Given the description of an element on the screen output the (x, y) to click on. 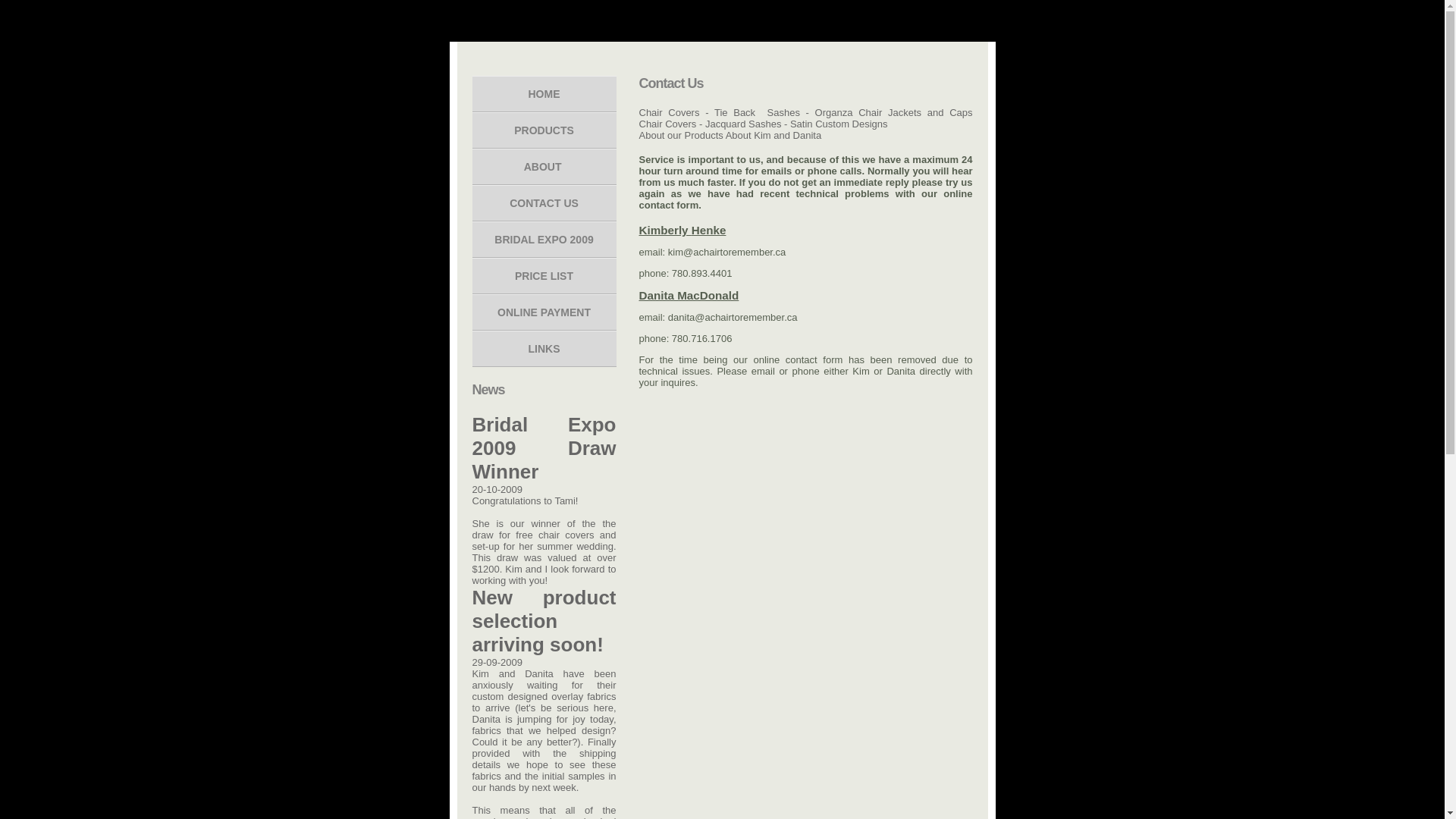
20-10-2009 Element type: text (496, 489)
Sashes - Organza Element type: text (810, 112)
New product selection arriving soon! Element type: text (543, 621)
Chair Covers - Tie Back  Element type: text (699, 112)
About Kim and Danita  Element type: text (774, 135)
PRICE LIST Element type: text (543, 275)
Chair Jackets and Caps Element type: text (915, 112)
ONLINE PAYMENT Element type: text (543, 312)
HOME Element type: text (543, 93)
BRIDAL EXPO 2009 Element type: text (543, 239)
CONTACT US Element type: text (543, 203)
ABOUT  Element type: text (543, 166)
Sashes - Satin Element type: text (780, 123)
PRODUCTS Element type: text (543, 130)
29-09-2009 Element type: text (496, 662)
About our Products Element type: text (680, 135)
Chair Covers - Jacquard Element type: text (691, 123)
LINKS Element type: text (543, 348)
Bridal Expo 2009 Draw Winner Element type: text (543, 448)
Custom Designs Element type: text (851, 123)
